Given the description of an element on the screen output the (x, y) to click on. 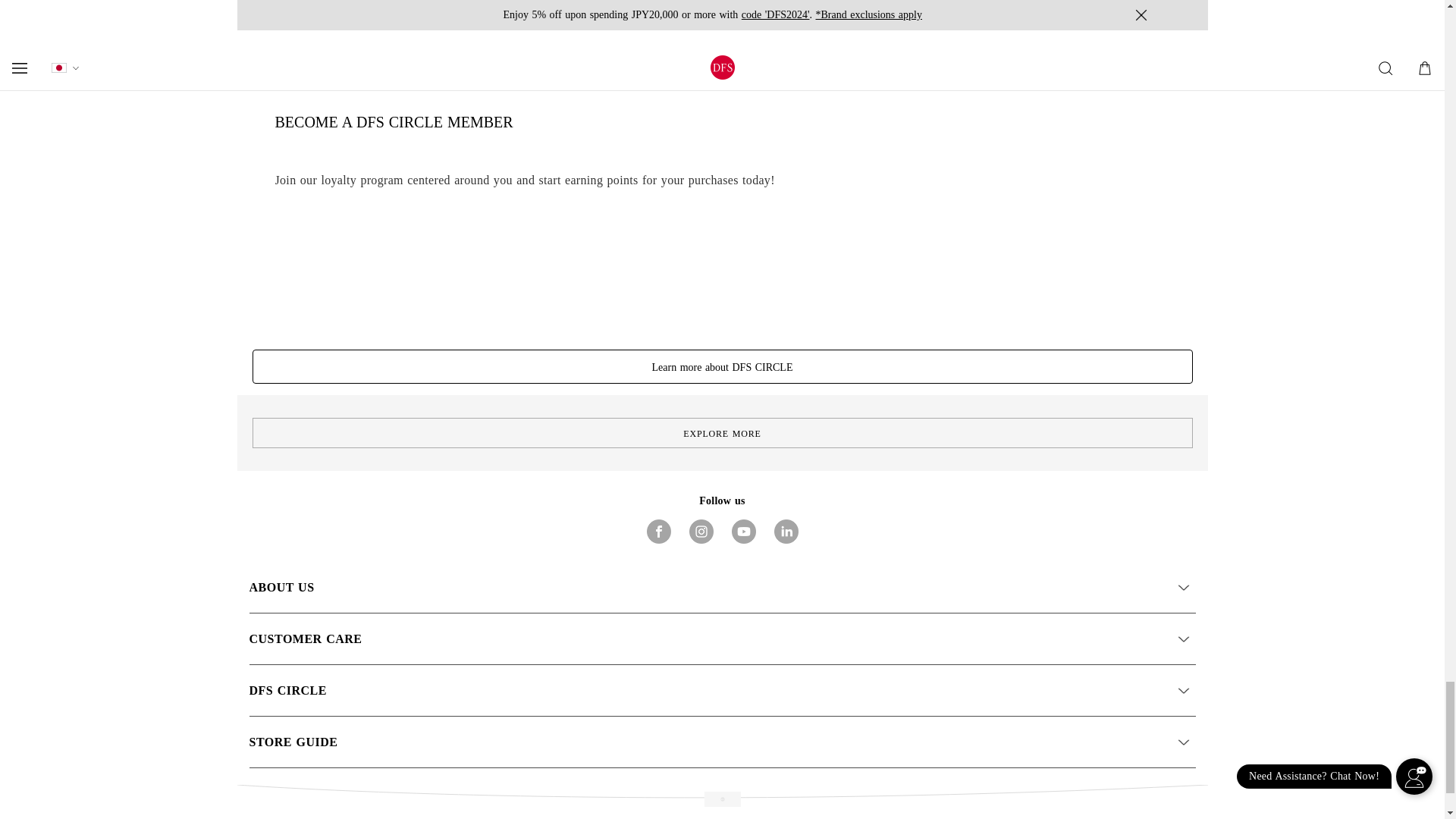
Learn more about DFS CIRCLE (721, 366)
EXPLORE MORE (721, 432)
Learn more about DFS CIRCLE (721, 366)
